Given the description of an element on the screen output the (x, y) to click on. 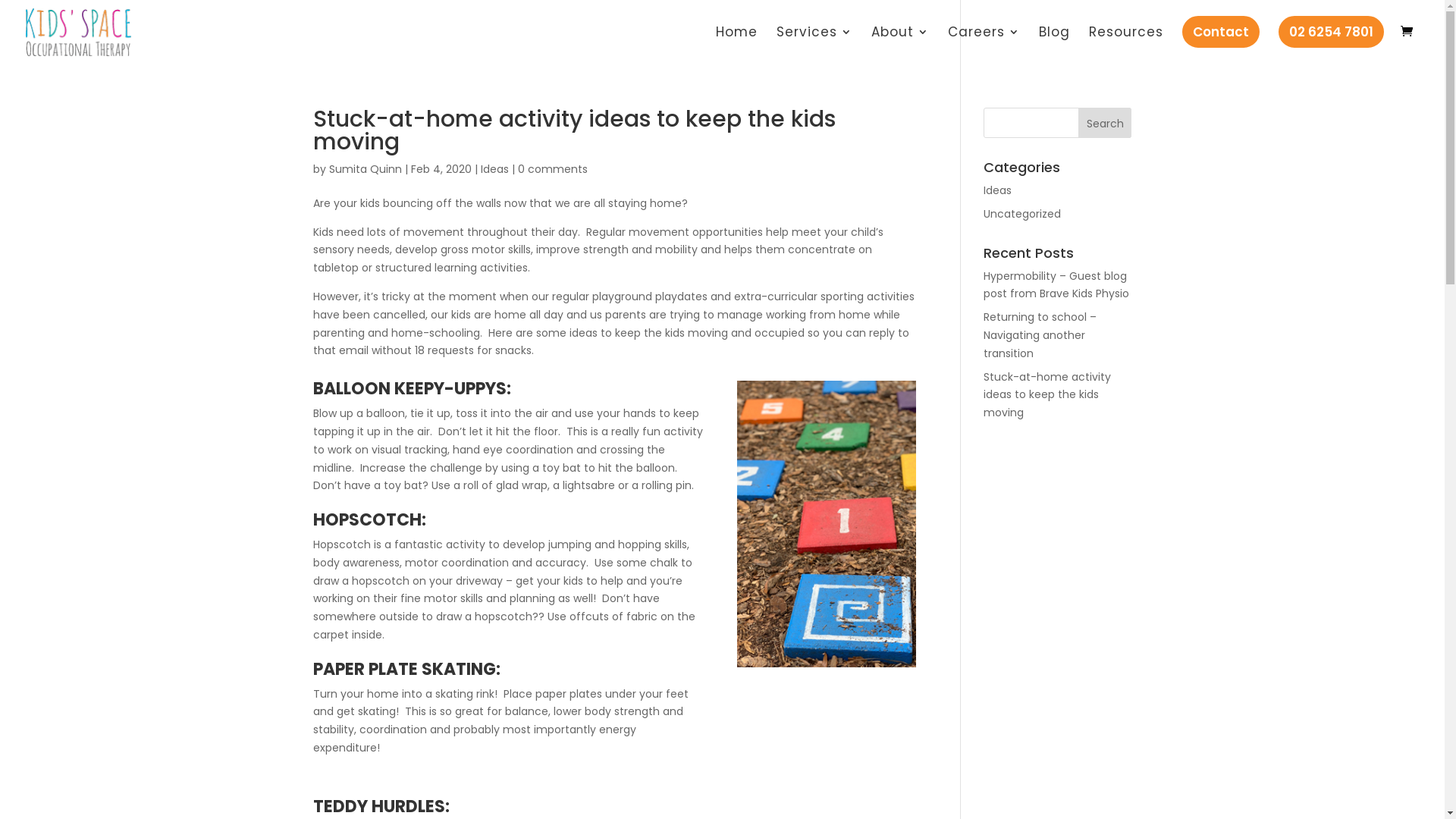
Services Element type: text (814, 44)
About Element type: text (899, 44)
02 6254 7801 Element type: text (1330, 39)
Home Element type: text (736, 44)
Stuck-at-home activity ideas to keep the kids moving Element type: text (1046, 394)
Ideas Element type: text (997, 189)
Search Element type: text (1105, 122)
Uncategorized Element type: text (1021, 213)
Contact Element type: text (1220, 39)
Ideas Element type: text (494, 168)
Sumita Quinn Element type: text (365, 168)
Blog Element type: text (1054, 44)
Careers Element type: text (983, 44)
Resources Element type: text (1125, 44)
0 comments Element type: text (551, 168)
